Given the description of an element on the screen output the (x, y) to click on. 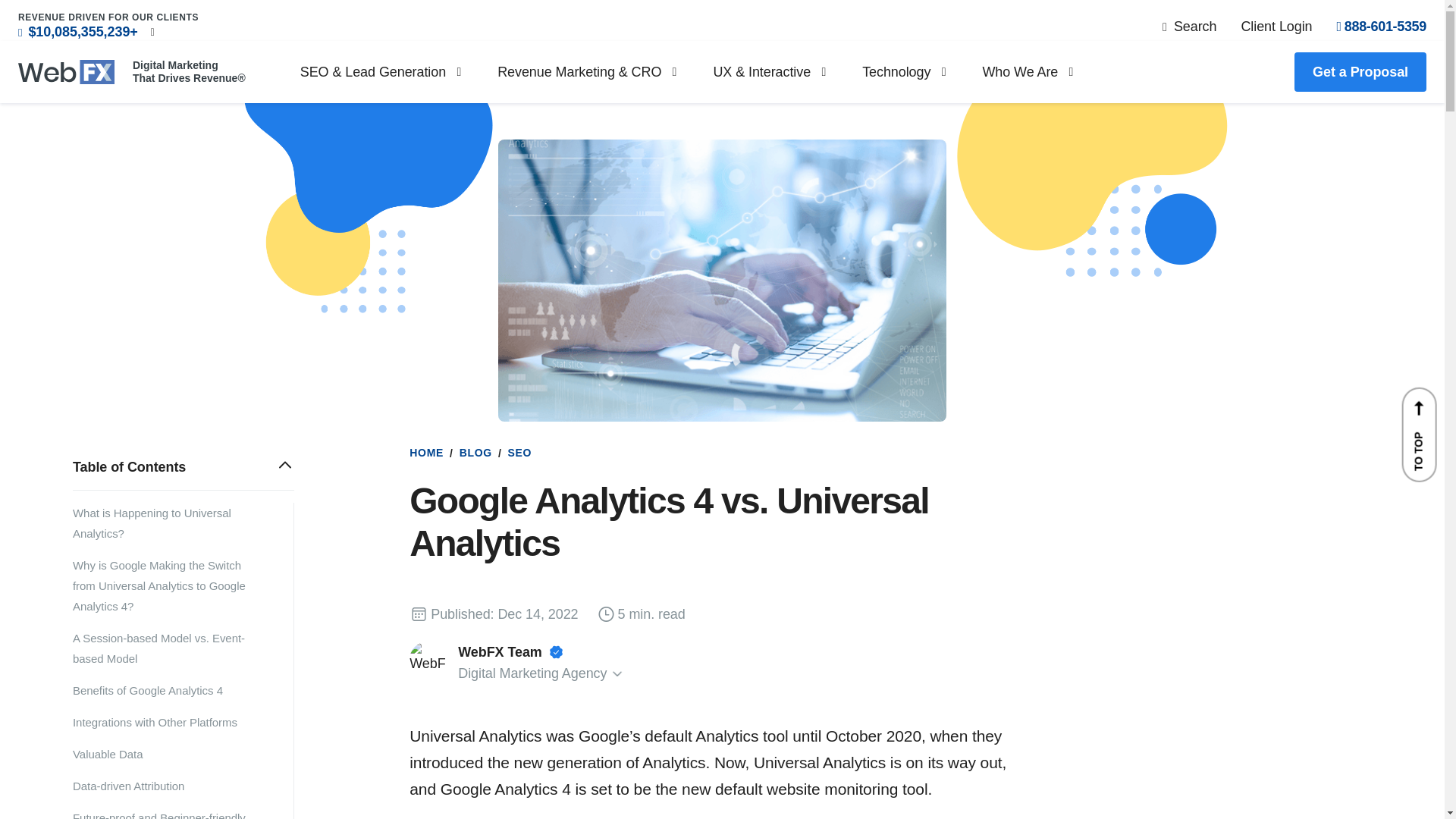
Search (1189, 26)
888-601-5359 (1381, 26)
Client Login (1275, 26)
